Given the description of an element on the screen output the (x, y) to click on. 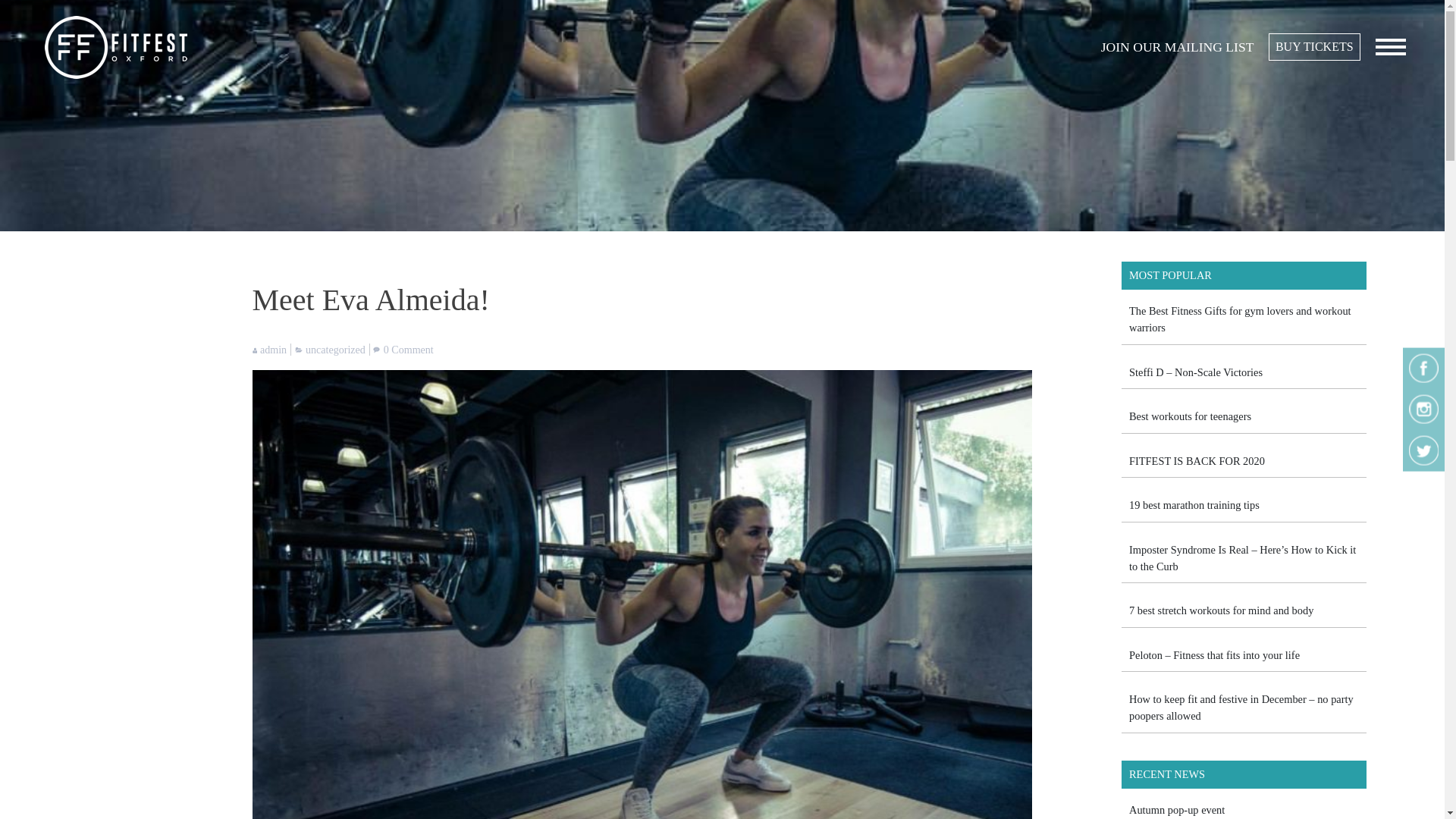
The Best Fitness Gifts for gym lovers and workout warriors (1240, 318)
19 best marathon training tips (1194, 504)
FITFEST IS BACK FOR 2020 (1197, 460)
JOIN OUR MAILING LIST (1176, 46)
7 best stretch workouts for mind and body (1221, 610)
BUY TICKETS (1313, 46)
Best workouts for teenagers (1189, 416)
Autumn pop-up event (1176, 809)
